Given the description of an element on the screen output the (x, y) to click on. 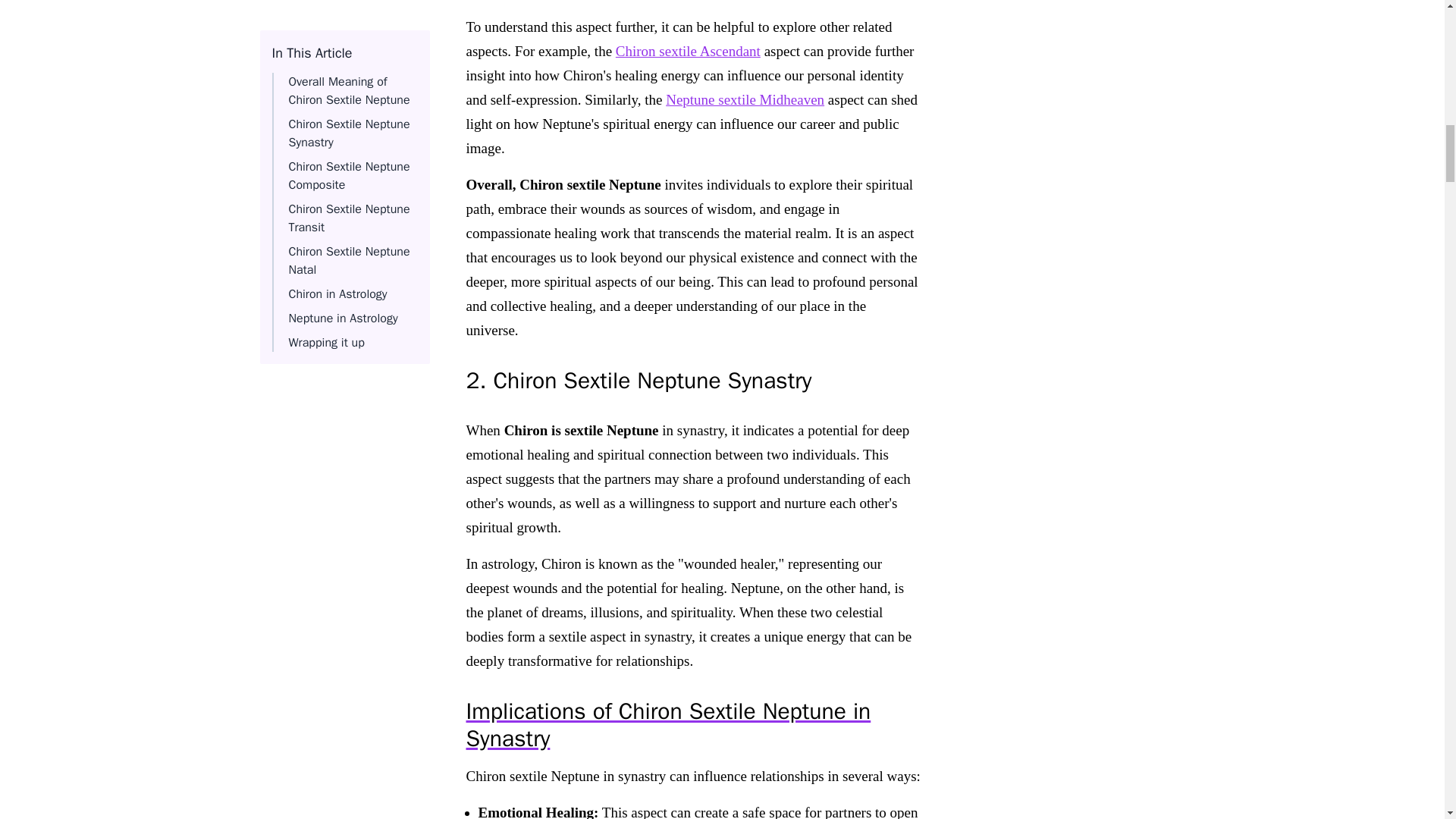
Chiron sextile Ascendant (687, 50)
Neptune sextile Midheaven (744, 98)
